Given the description of an element on the screen output the (x, y) to click on. 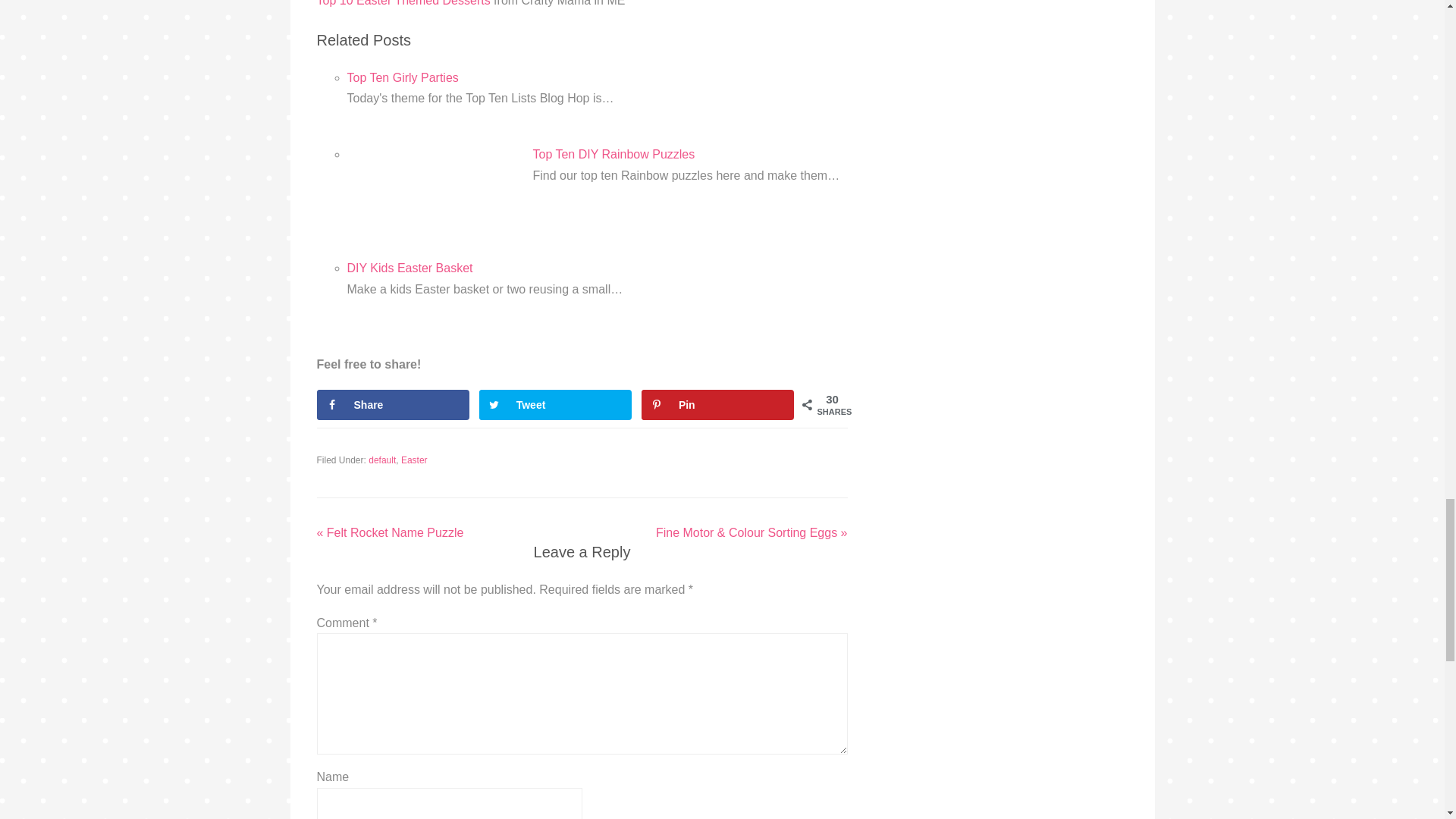
Share on Facebook (393, 404)
Share on Twitter (555, 404)
Save to Pinterest (718, 404)
